Given the description of an element on the screen output the (x, y) to click on. 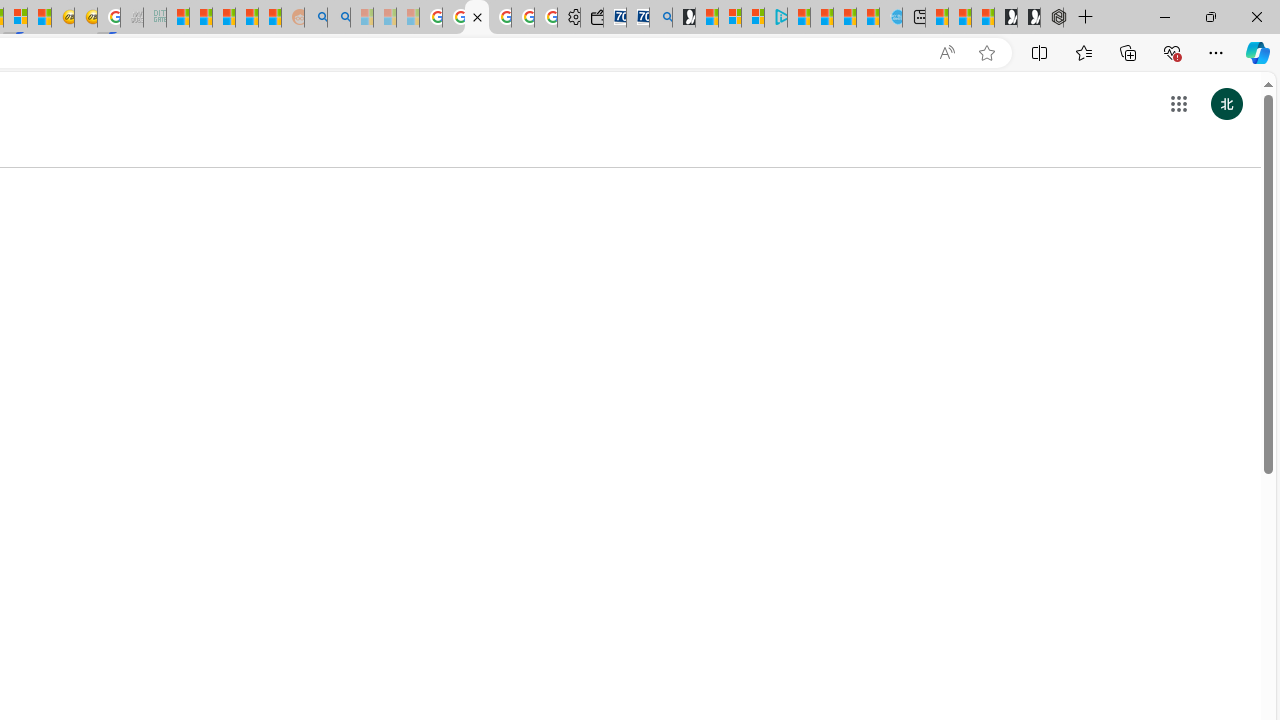
Home | Sky Blue Bikes - Sky Blue Bikes (890, 17)
Bing Real Estate - Home sales and rental listings (660, 17)
